Given the description of an element on the screen output the (x, y) to click on. 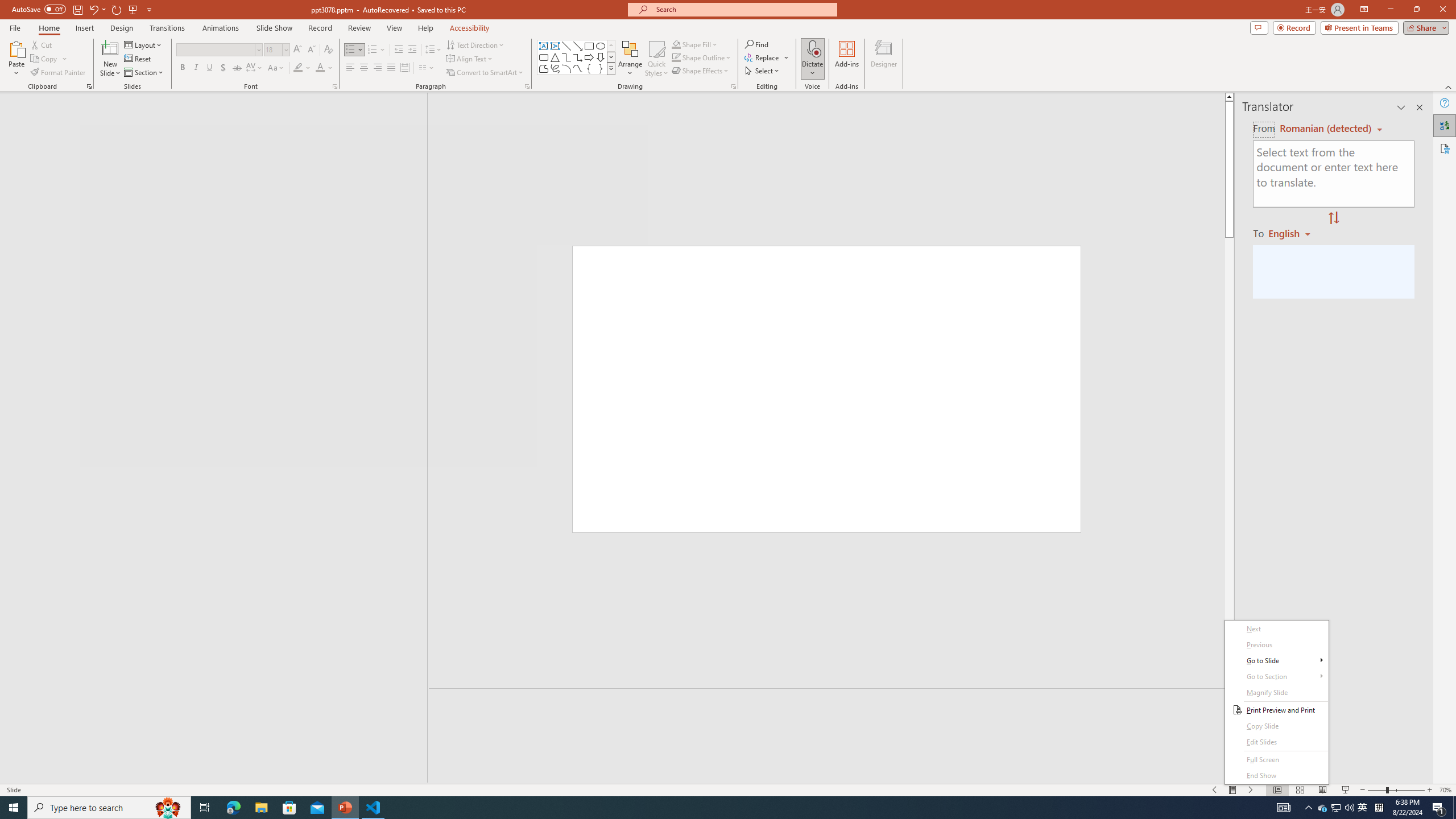
Align Right (377, 67)
Line Spacing (433, 49)
Q2790: 100% (1349, 807)
Accessibility (1444, 147)
Numbering (376, 49)
Shape Outline Green, Accent 1 (675, 56)
Character Spacing (254, 67)
Line (566, 45)
Rectangle (589, 45)
Oval (600, 45)
Swap "from" and "to" languages. (1333, 218)
Zoom 70% (1445, 790)
Align Left (349, 67)
Row up (611, 45)
